Given the description of an element on the screen output the (x, y) to click on. 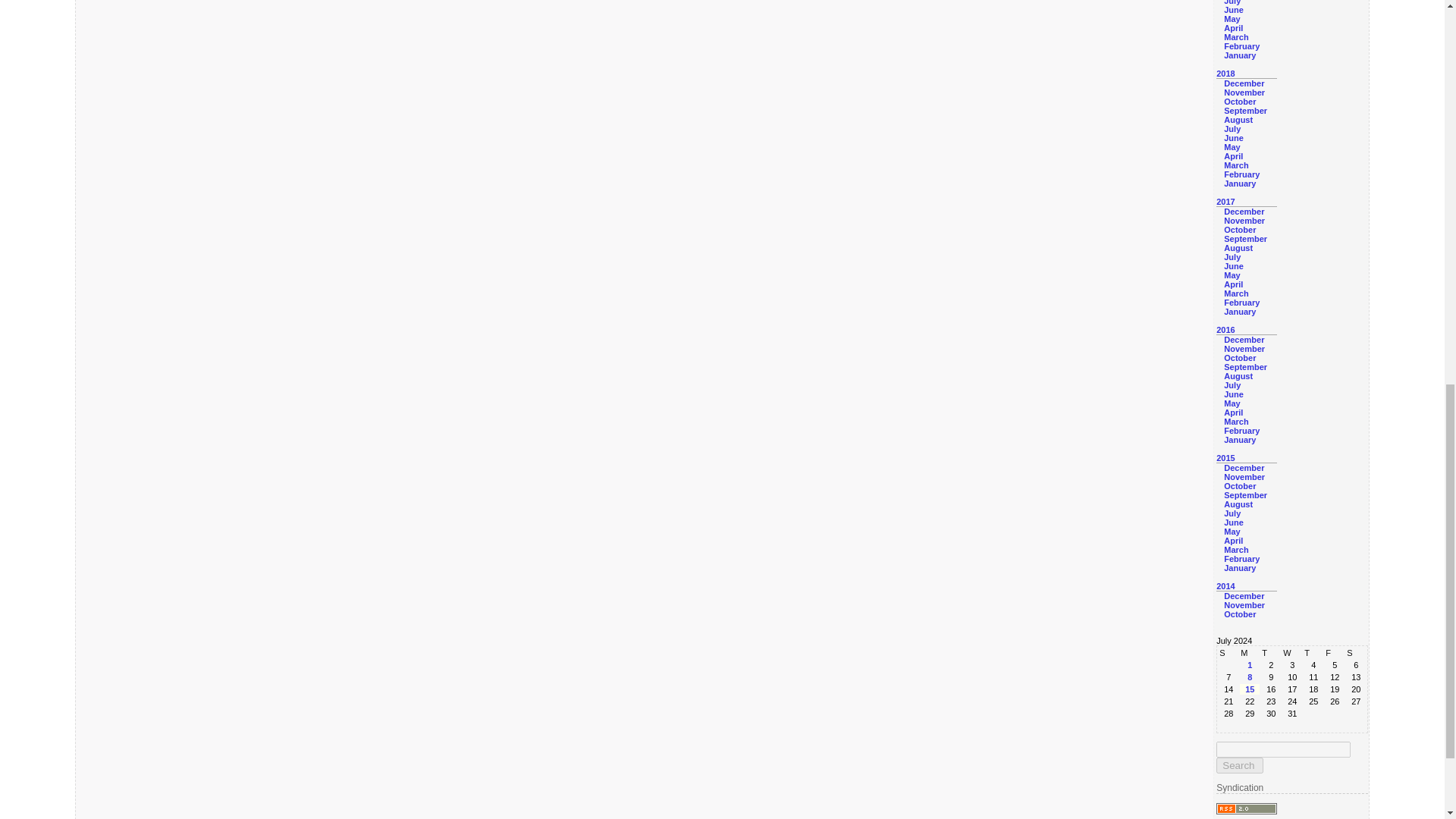
Monday (1249, 652)
Saturday (1355, 652)
Sunday (1228, 652)
Thursday (1313, 652)
Wednesday (1291, 652)
Tuesday (1270, 652)
Search  (1239, 765)
Friday (1333, 652)
